Given the description of an element on the screen output the (x, y) to click on. 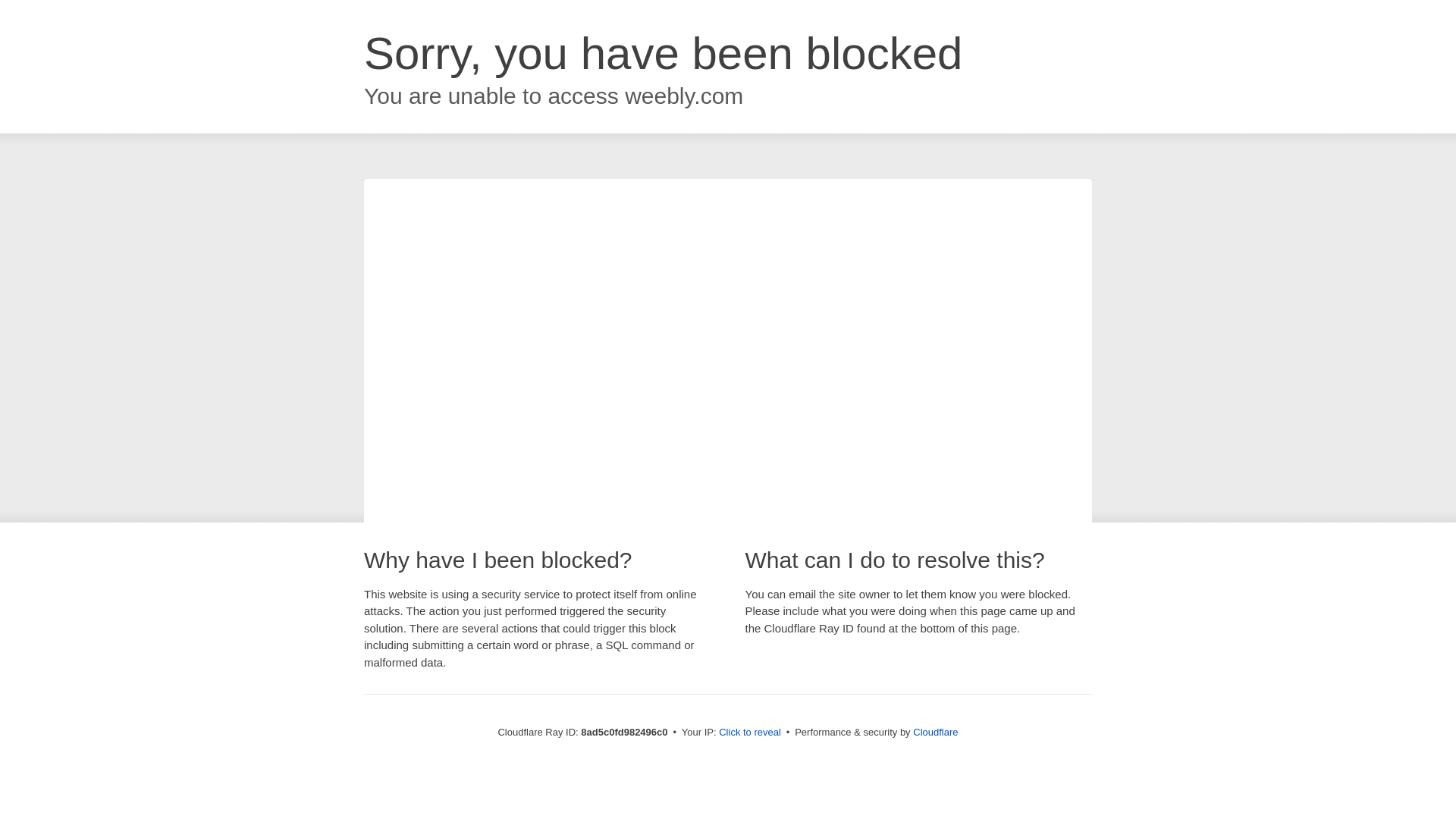
Cloudflare (935, 731)
Click to reveal (749, 732)
